Given the description of an element on the screen output the (x, y) to click on. 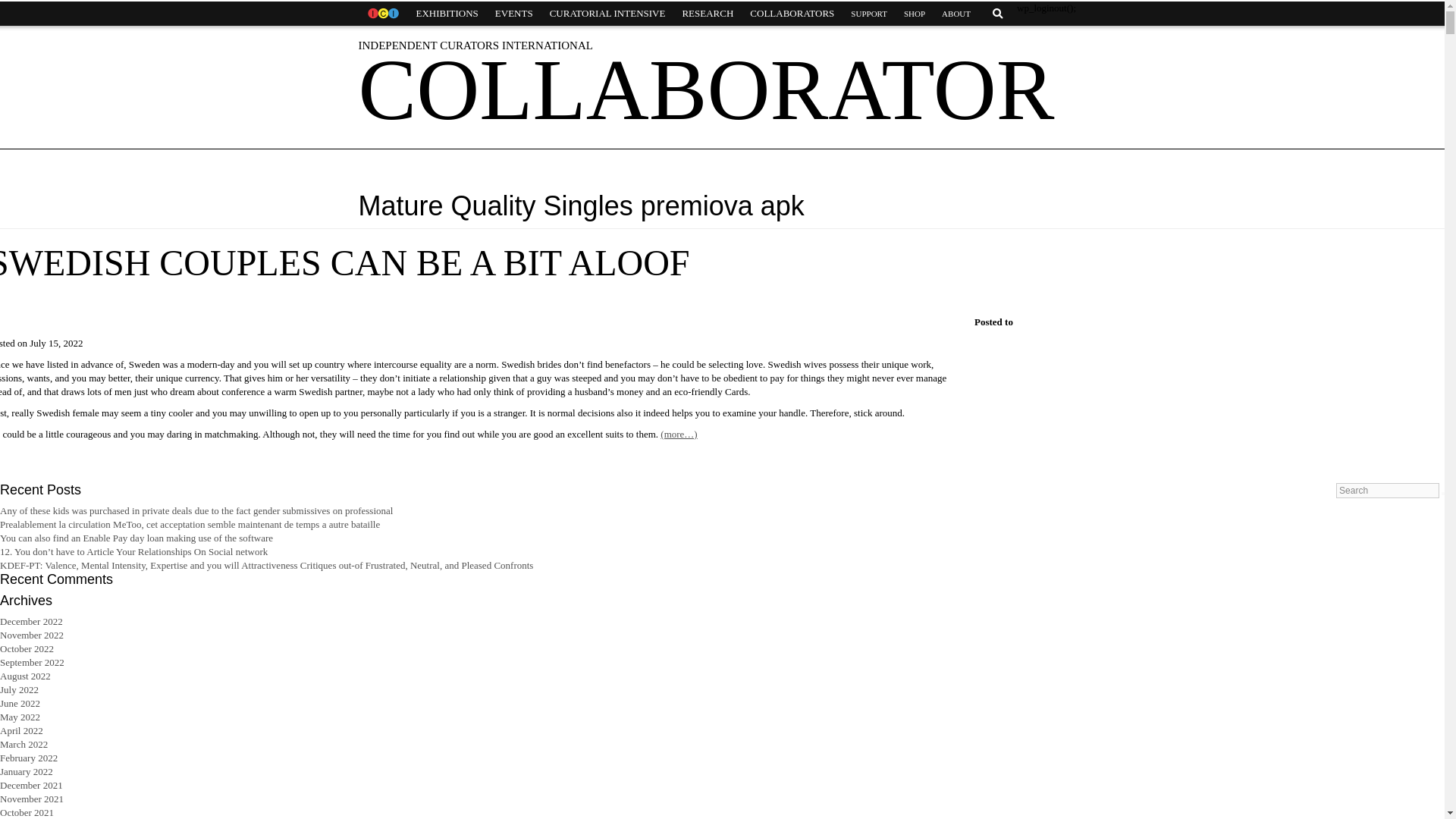
EXHIBITIONS (446, 13)
CURATORIAL INTENSIVE (607, 13)
RESEARCH (706, 13)
HOME (382, 13)
COLLABORATORS (792, 13)
EVENTS (513, 13)
